Given the description of an element on the screen output the (x, y) to click on. 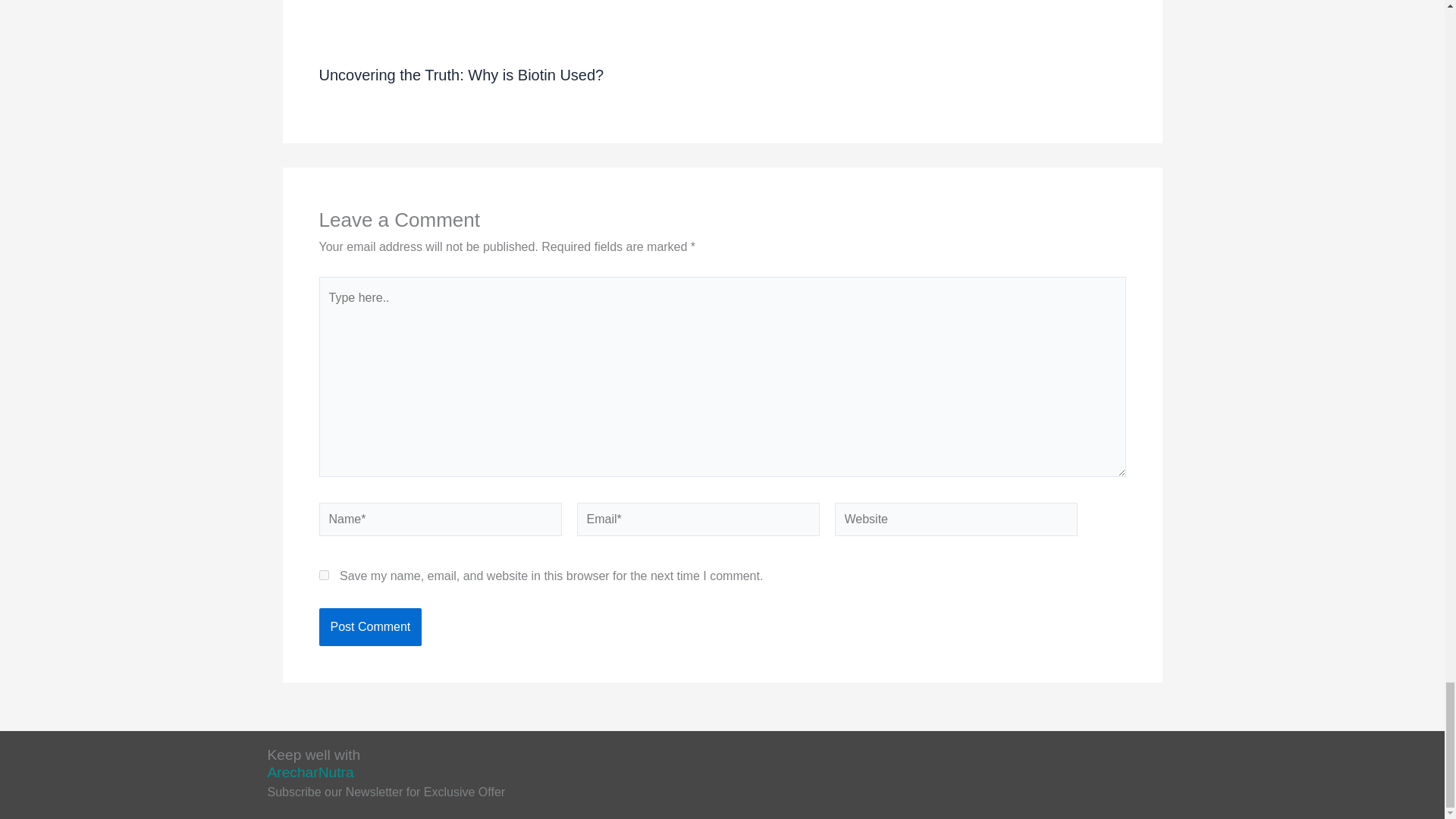
yes (323, 574)
Post Comment (370, 627)
